Given the description of an element on the screen output the (x, y) to click on. 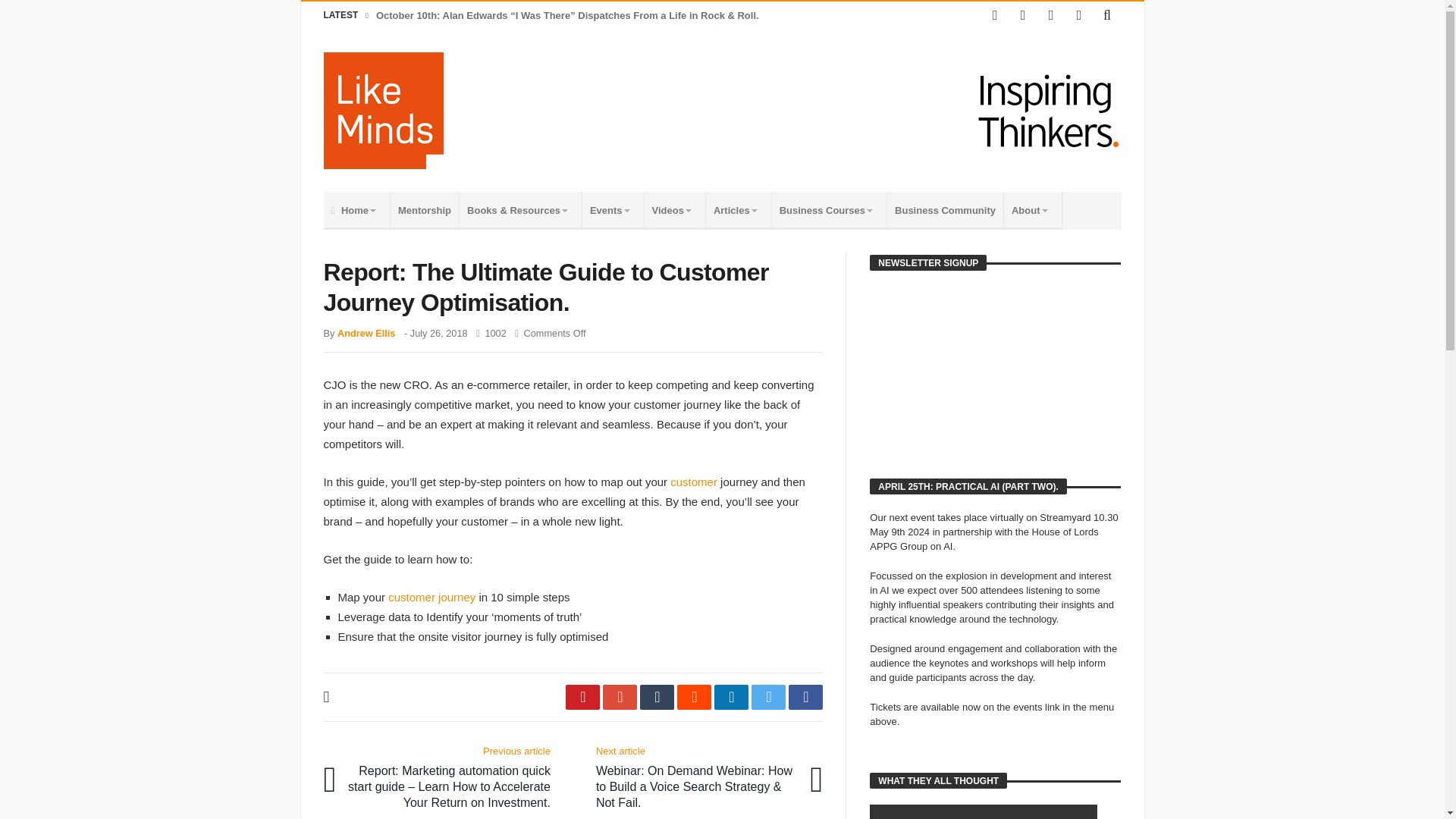
Business Courses (828, 210)
Mentorship (425, 210)
Facebook (995, 15)
Twitter (1022, 15)
LinkedIn (1050, 15)
Home (356, 210)
Videos (675, 210)
Articles (738, 210)
Events (613, 210)
instagram (1078, 15)
